Given the description of an element on the screen output the (x, y) to click on. 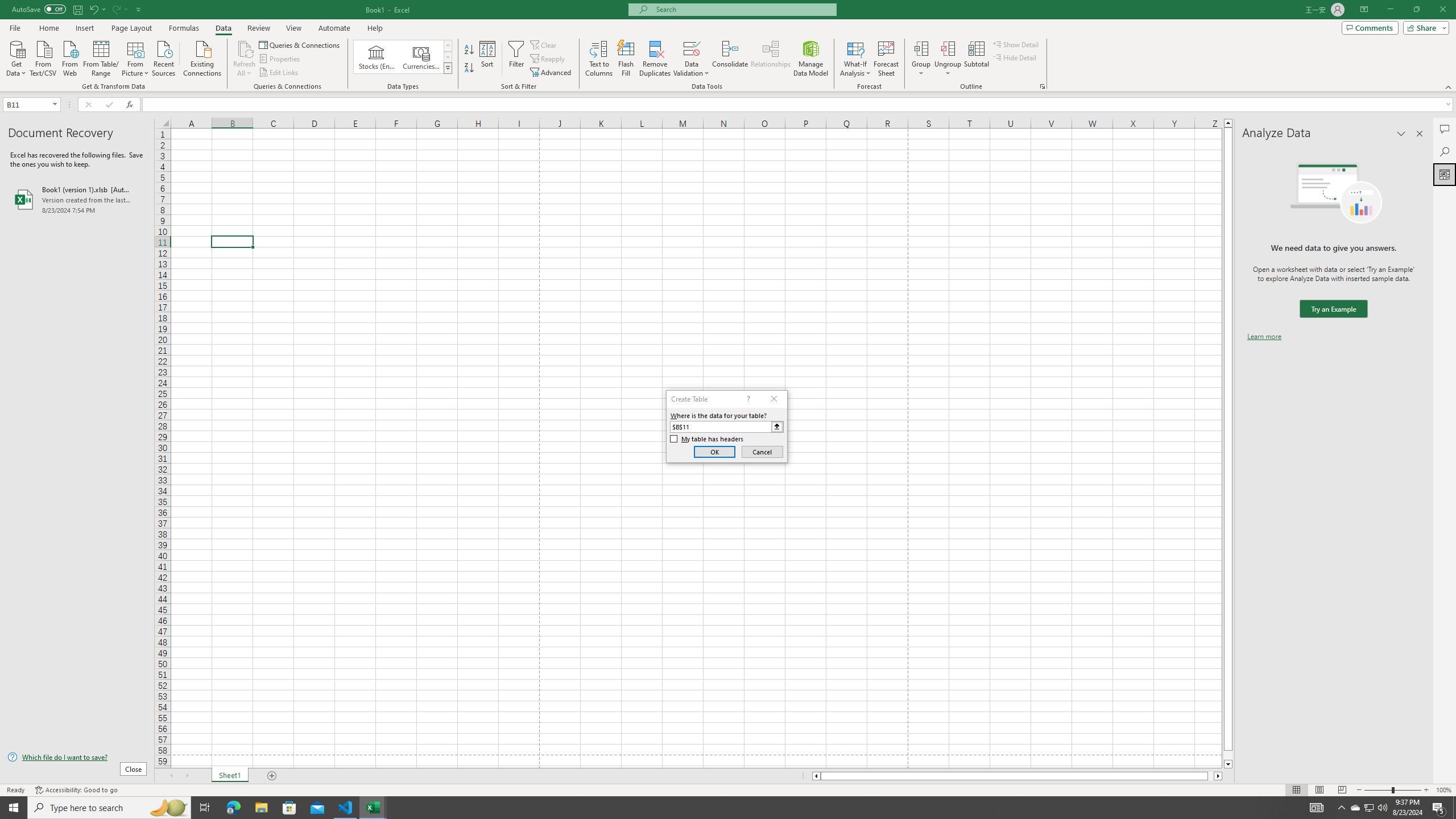
Relationships (770, 58)
Currencies (English) (420, 56)
Remove Duplicates (654, 58)
Clear (544, 44)
Row Down (448, 56)
